Given the description of an element on the screen output the (x, y) to click on. 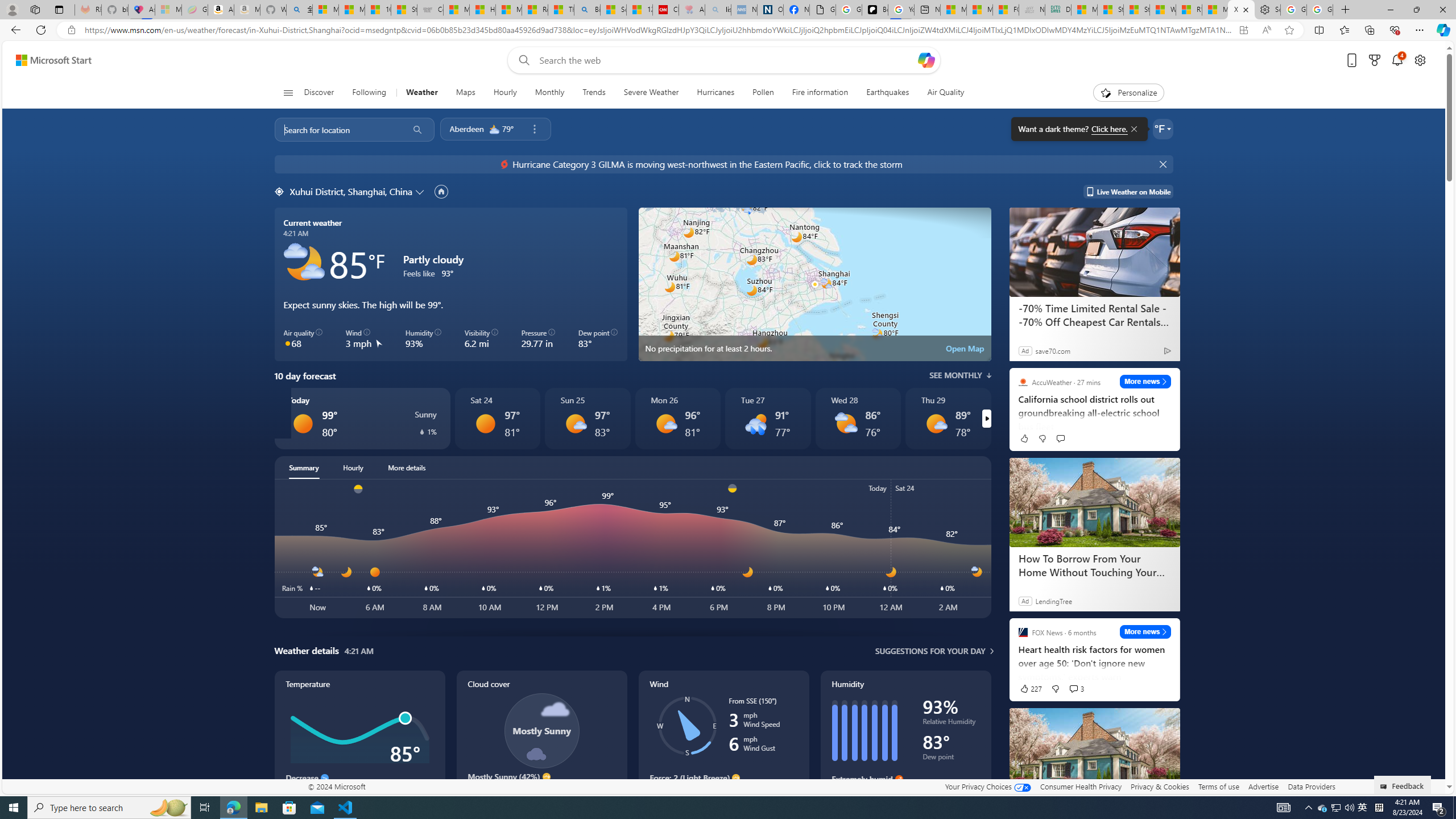
Back to top (23, 424)
Wind (699, 225)
Open Map (965, 348)
How I Got Rid of Microsoft Edge's Unnecessary Features (482, 9)
Xuhui District, Shanghai, China (350, 191)
Privacy & Cookies (1160, 785)
save70.com (1052, 350)
